Given the description of an element on the screen output the (x, y) to click on. 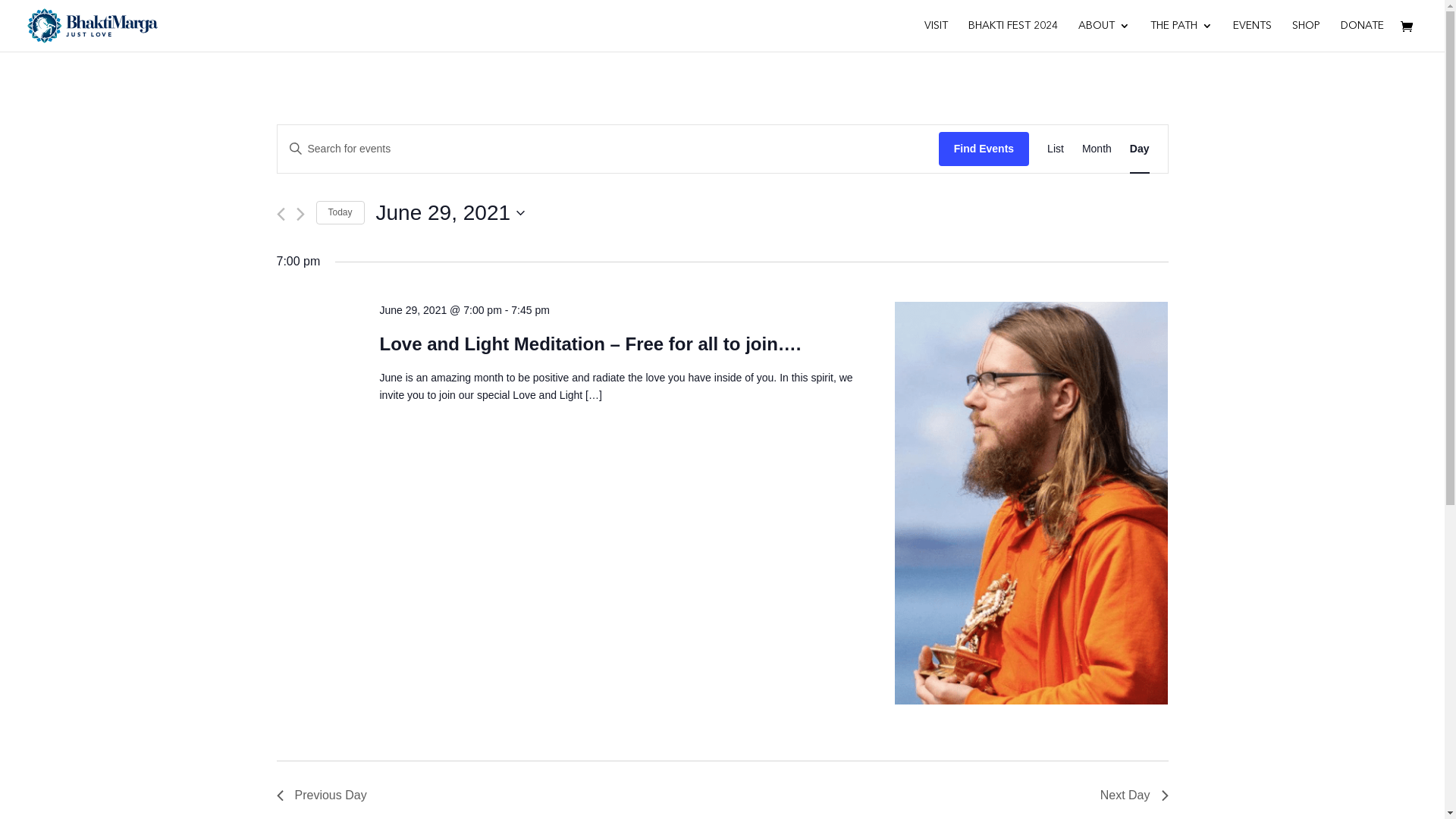
DONATE Element type: text (1361, 35)
Previous Day Element type: text (321, 795)
Next day Element type: hover (299, 214)
SHOP Element type: text (1306, 35)
Today Element type: text (339, 212)
ezgif.com-gif-maker Element type: hover (1030, 502)
VISIT Element type: text (935, 35)
Day Element type: text (1139, 148)
EVENTS Element type: text (1252, 35)
List Element type: text (1055, 148)
Next Day Element type: text (1134, 795)
THE PATH Element type: text (1181, 35)
BHAKTI FEST 2024 Element type: text (1012, 35)
Find Events Element type: text (983, 148)
June 29, 2021 Element type: text (450, 212)
ABOUT Element type: text (1103, 35)
Month Element type: text (1096, 148)
Previous day Element type: hover (280, 214)
